Given the description of an element on the screen output the (x, y) to click on. 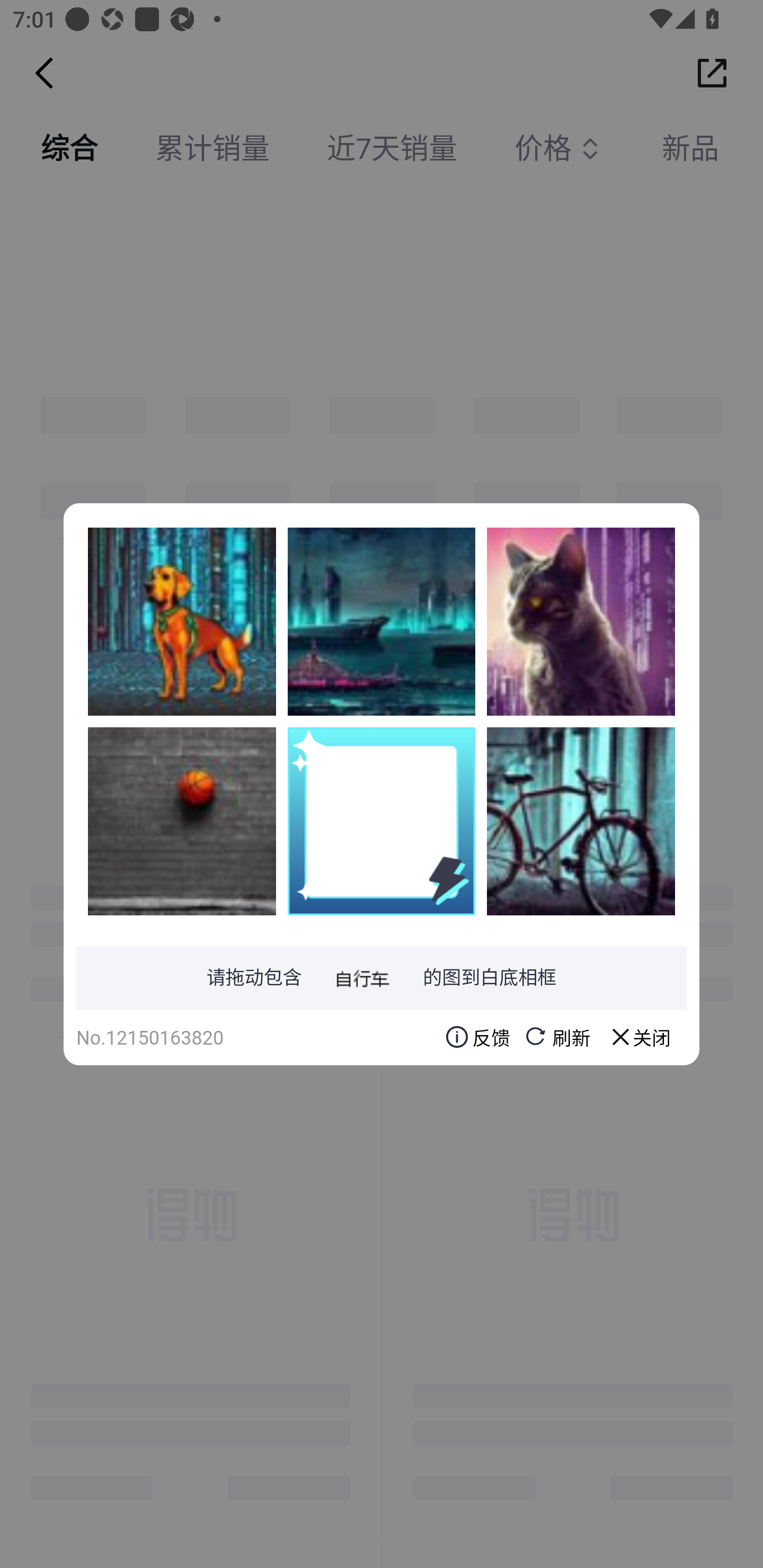
uwumtprSilh (181, 621)
QcCRwKqDEx6pi (181, 820)
